Given the description of an element on the screen output the (x, y) to click on. 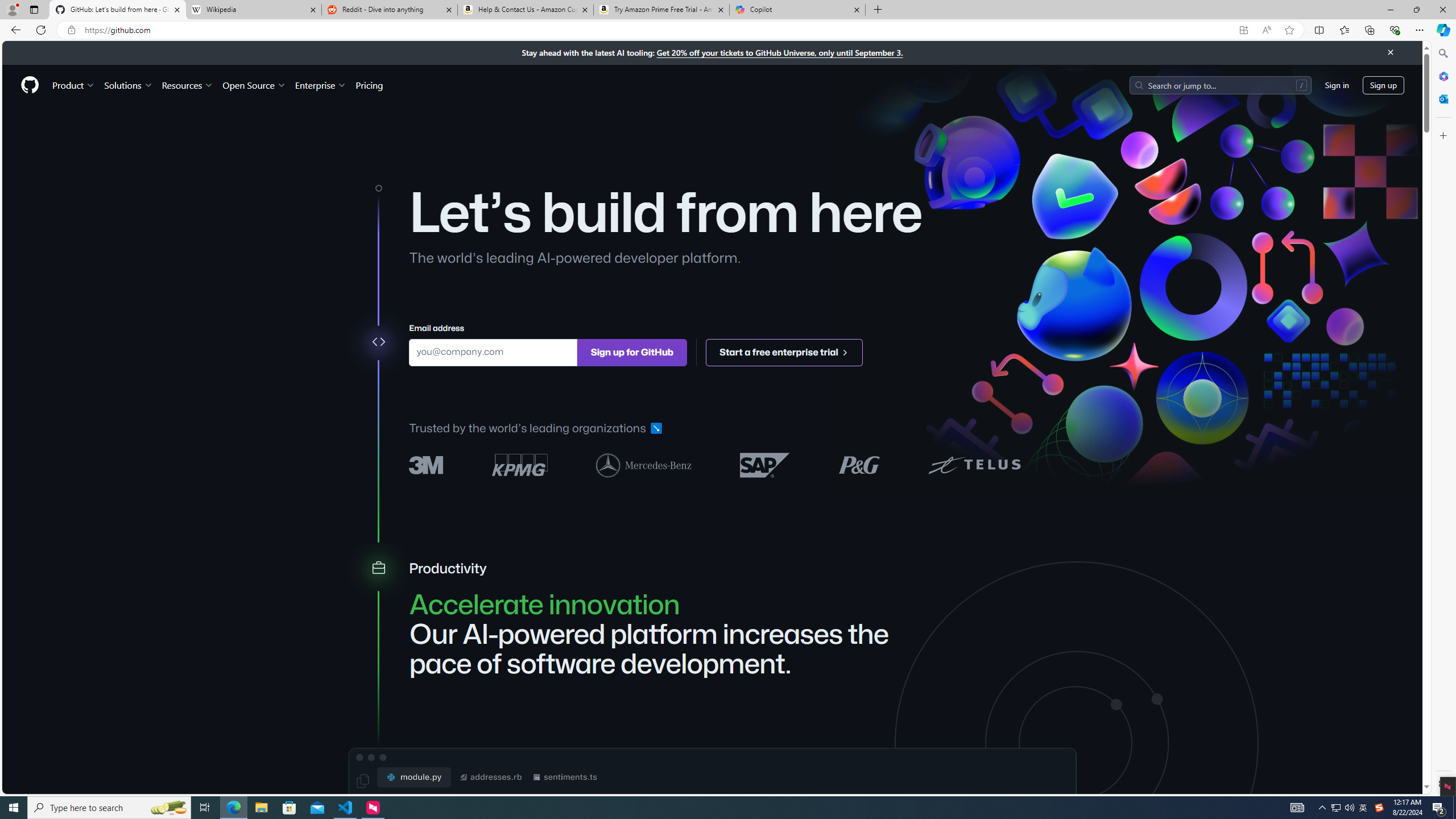
Product (74, 84)
P&G logo (858, 464)
Open Source (254, 84)
Mercedes-Benz logo (643, 464)
Solutions (128, 84)
